Given the description of an element on the screen output the (x, y) to click on. 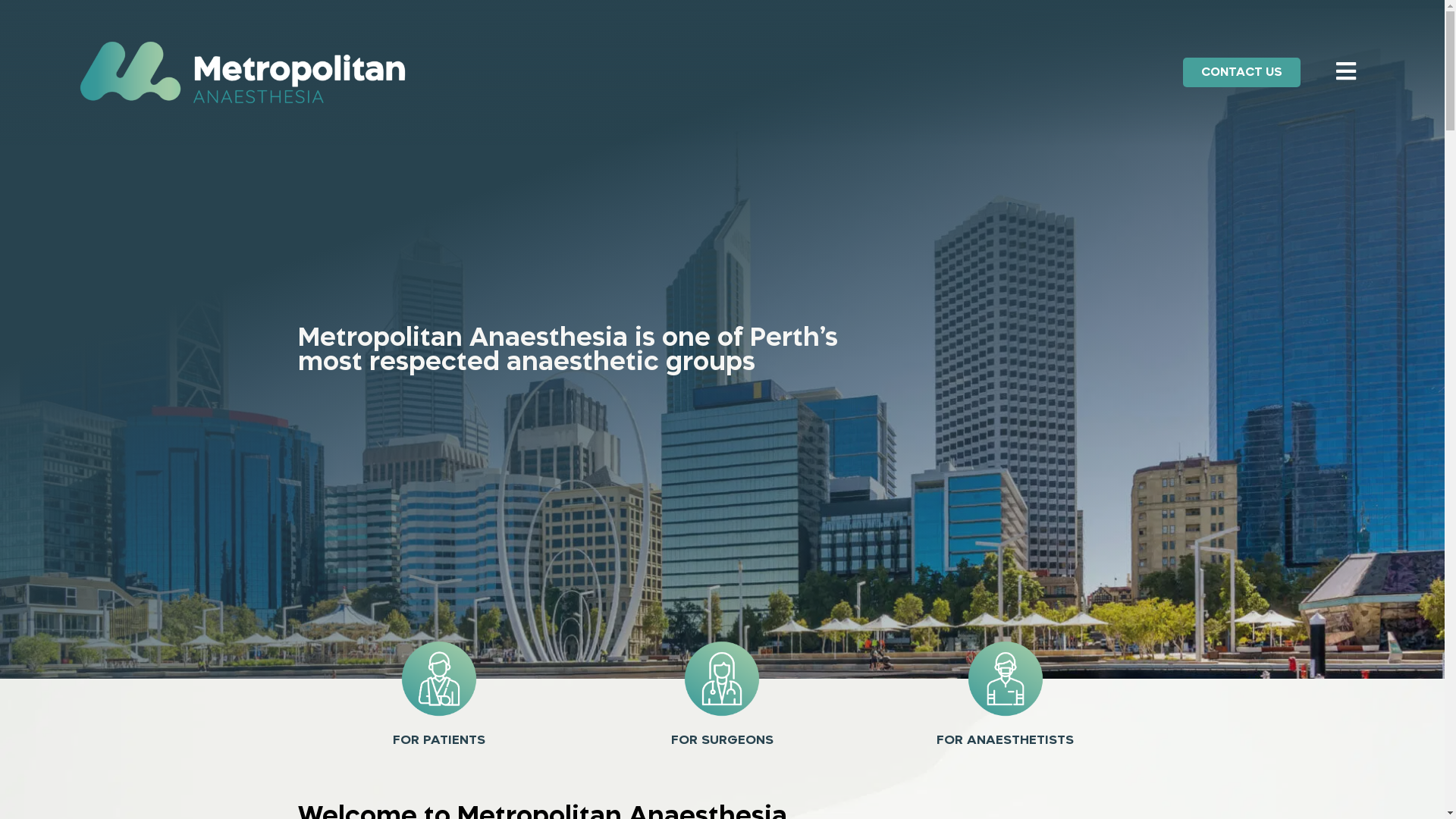
CONTACT US Element type: text (1241, 72)
FOR SURGEONS Element type: text (722, 740)
FOR ANAESTHETISTS Element type: text (1004, 740)
FOR PATIENTS Element type: text (438, 740)
